Given the description of an element on the screen output the (x, y) to click on. 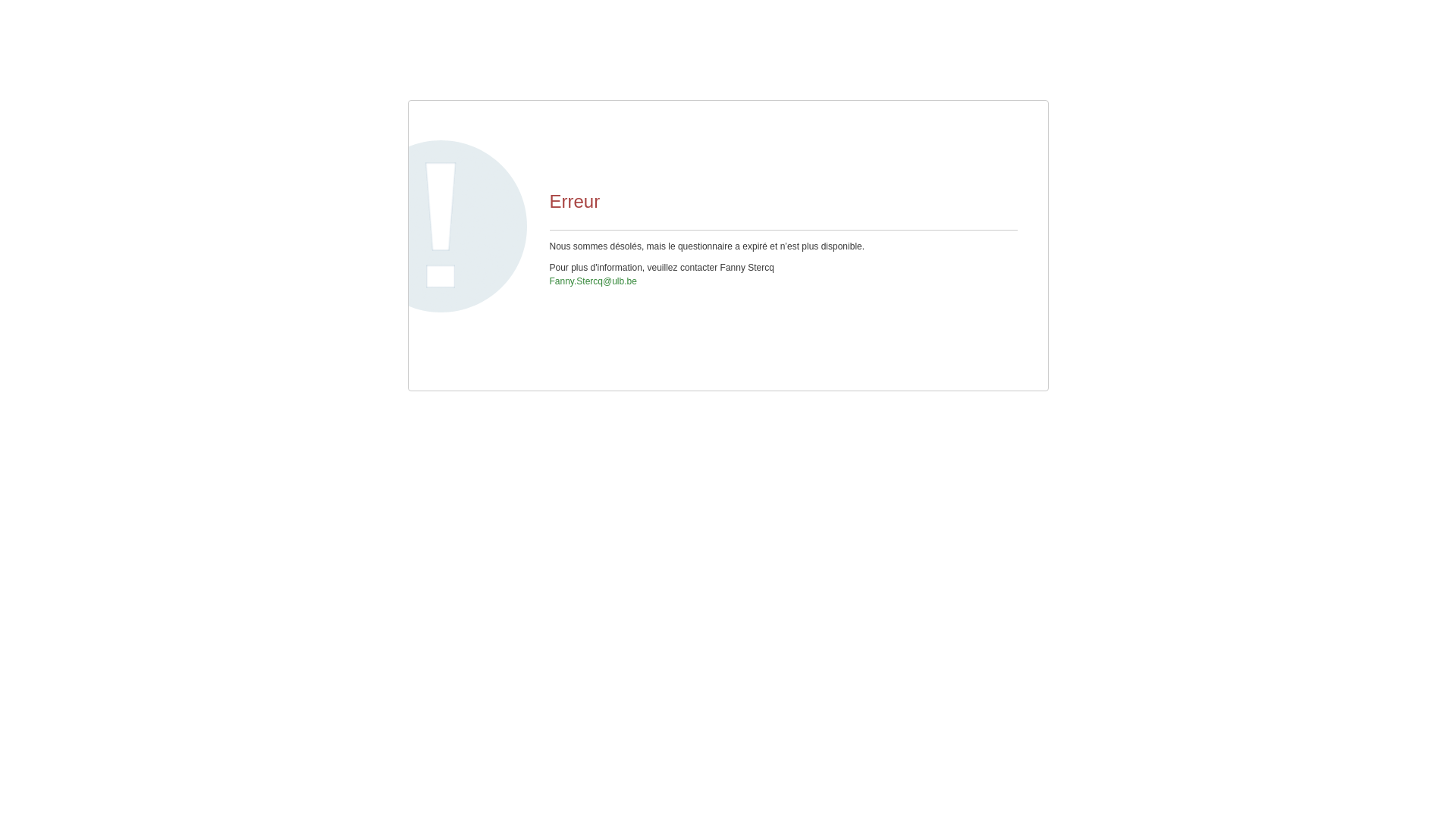
Fanny.Stercq@ulb.be Element type: text (592, 281)
